Given the description of an element on the screen output the (x, y) to click on. 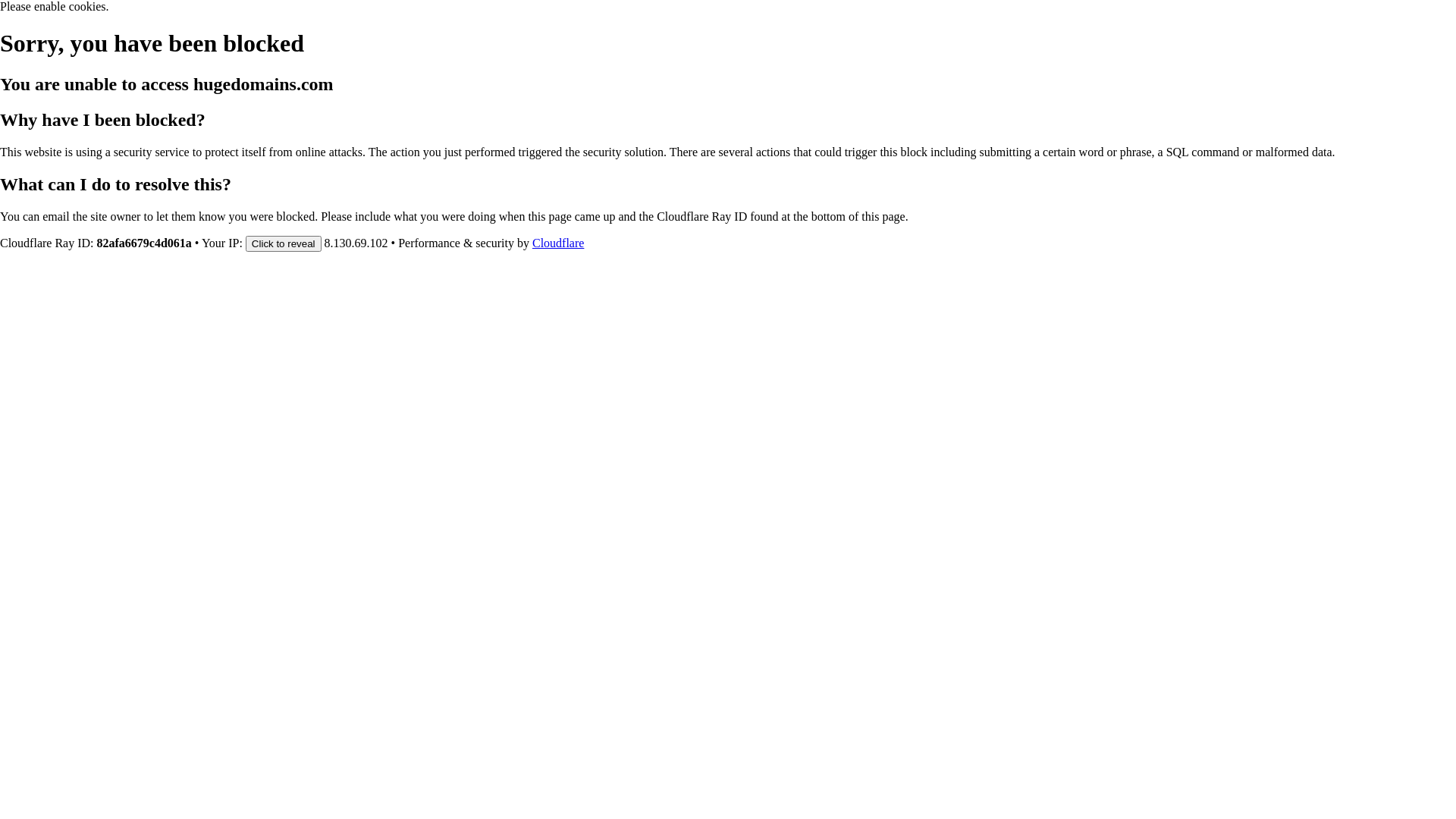
Click to reveal Element type: text (283, 243)
Cloudflare Element type: text (557, 242)
